Given the description of an element on the screen output the (x, y) to click on. 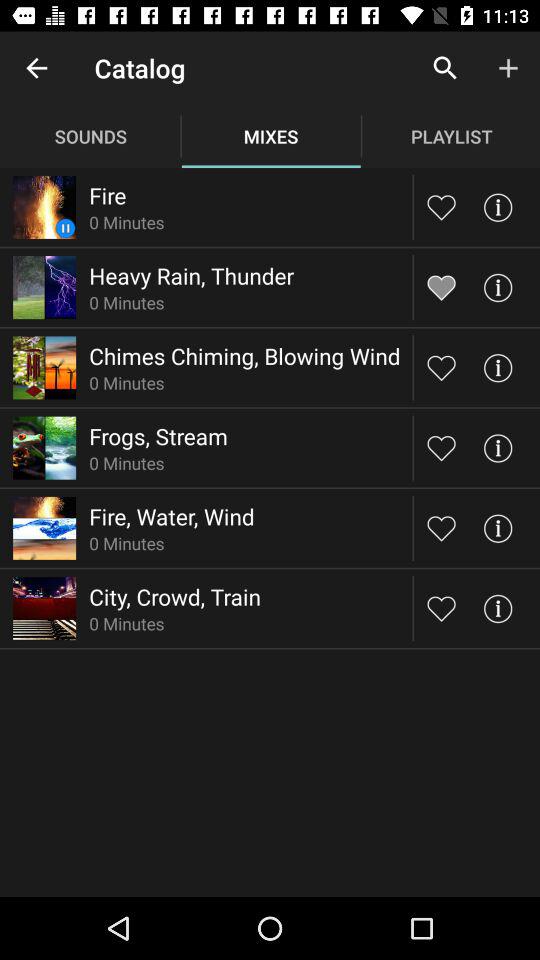
info (498, 367)
